Given the description of an element on the screen output the (x, y) to click on. 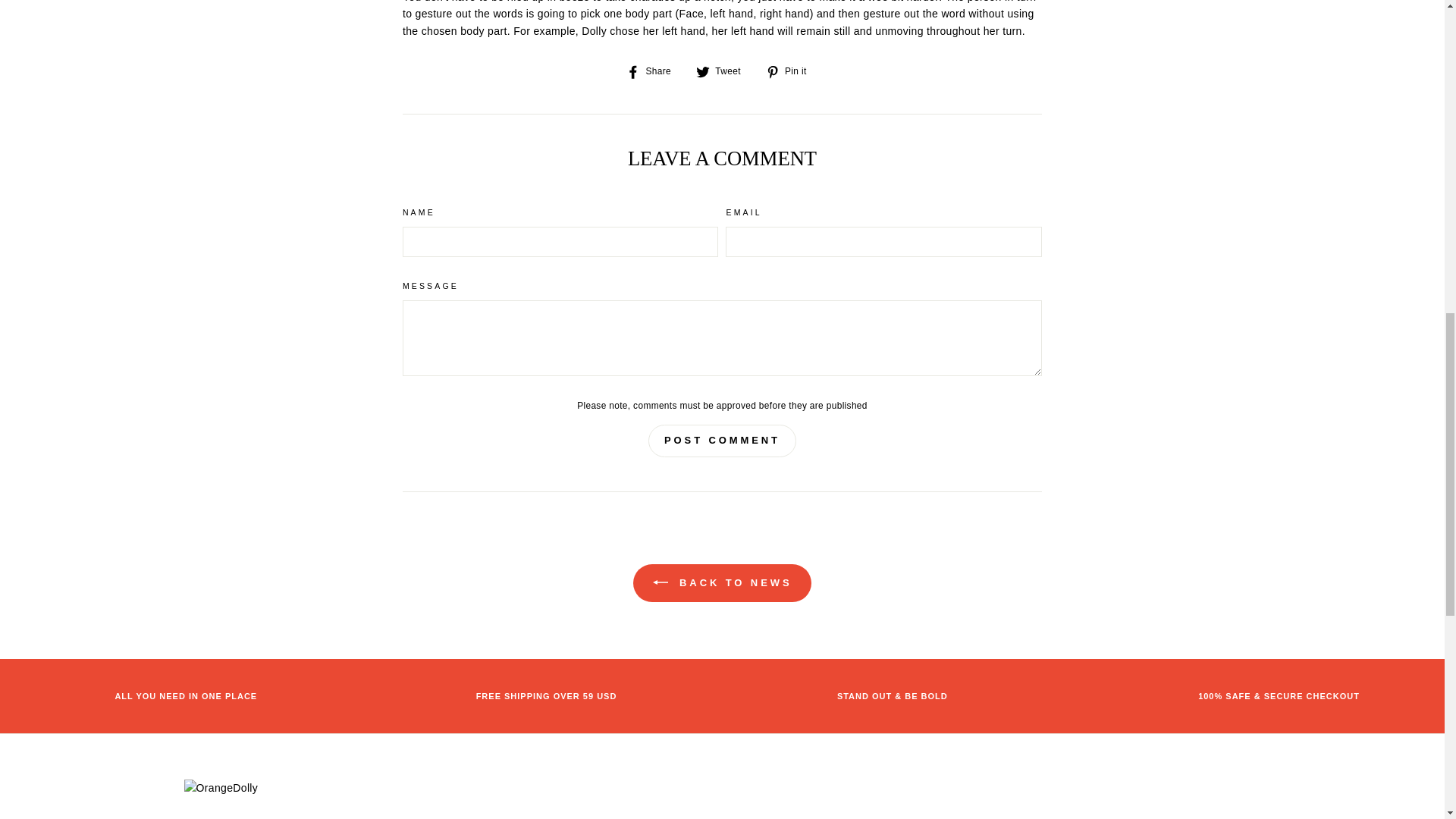
Tweet on Twitter (723, 70)
Pin on Pinterest (791, 70)
Share on Facebook (654, 70)
